Given the description of an element on the screen output the (x, y) to click on. 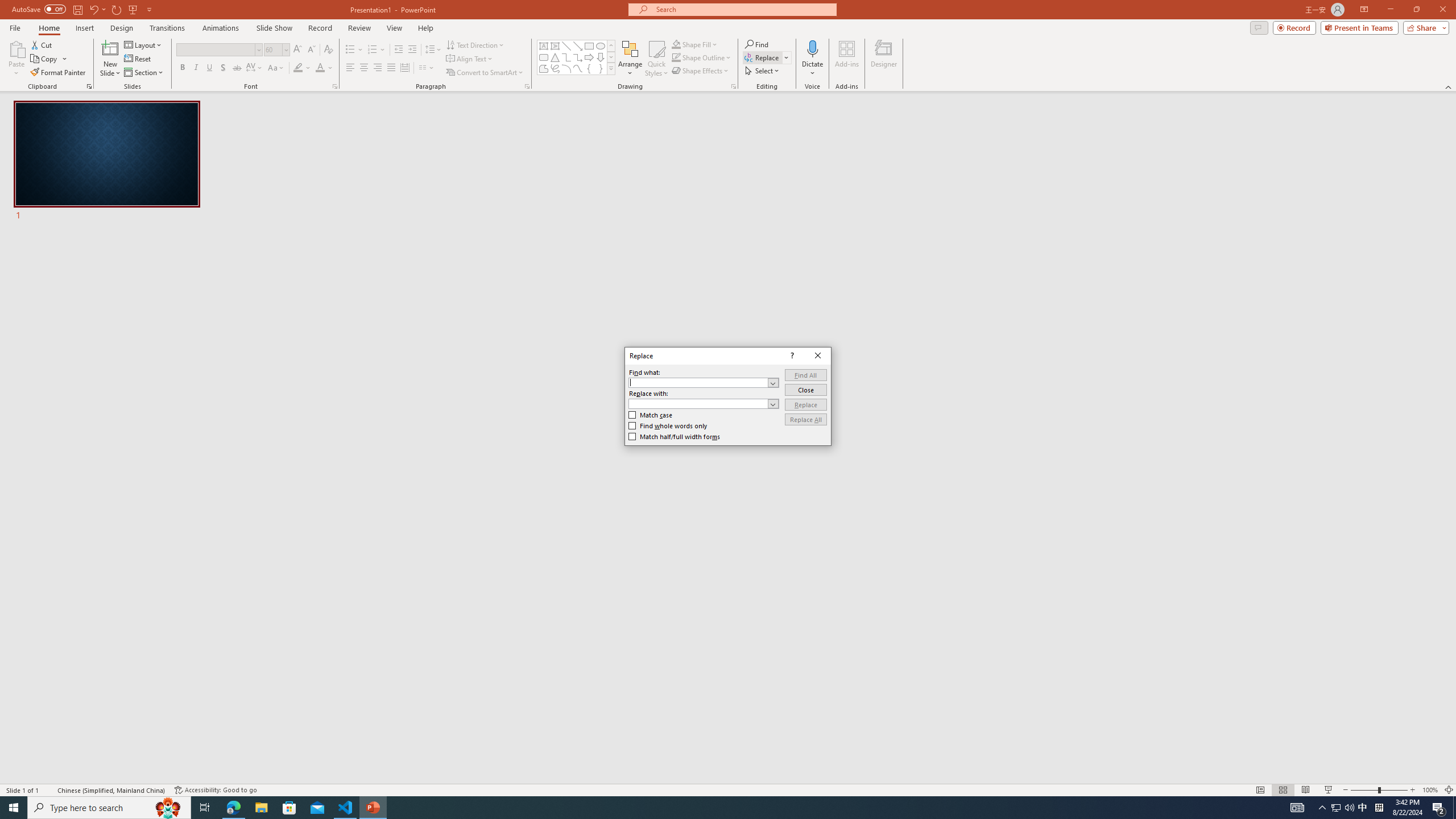
Type here to search (108, 807)
Line Spacing (433, 49)
